Given the description of an element on the screen output the (x, y) to click on. 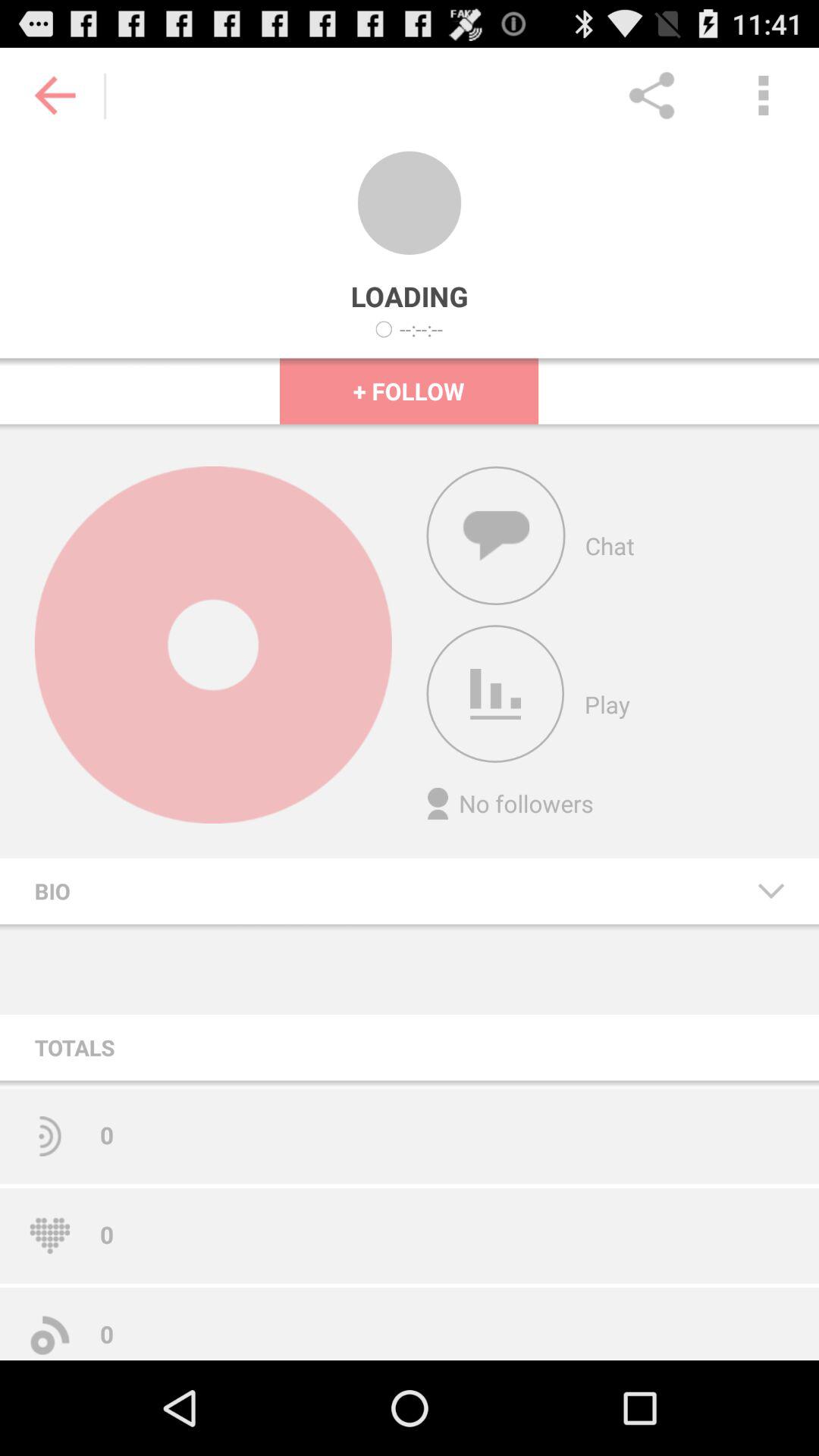
click on play icon (495, 694)
